Given the description of an element on the screen output the (x, y) to click on. 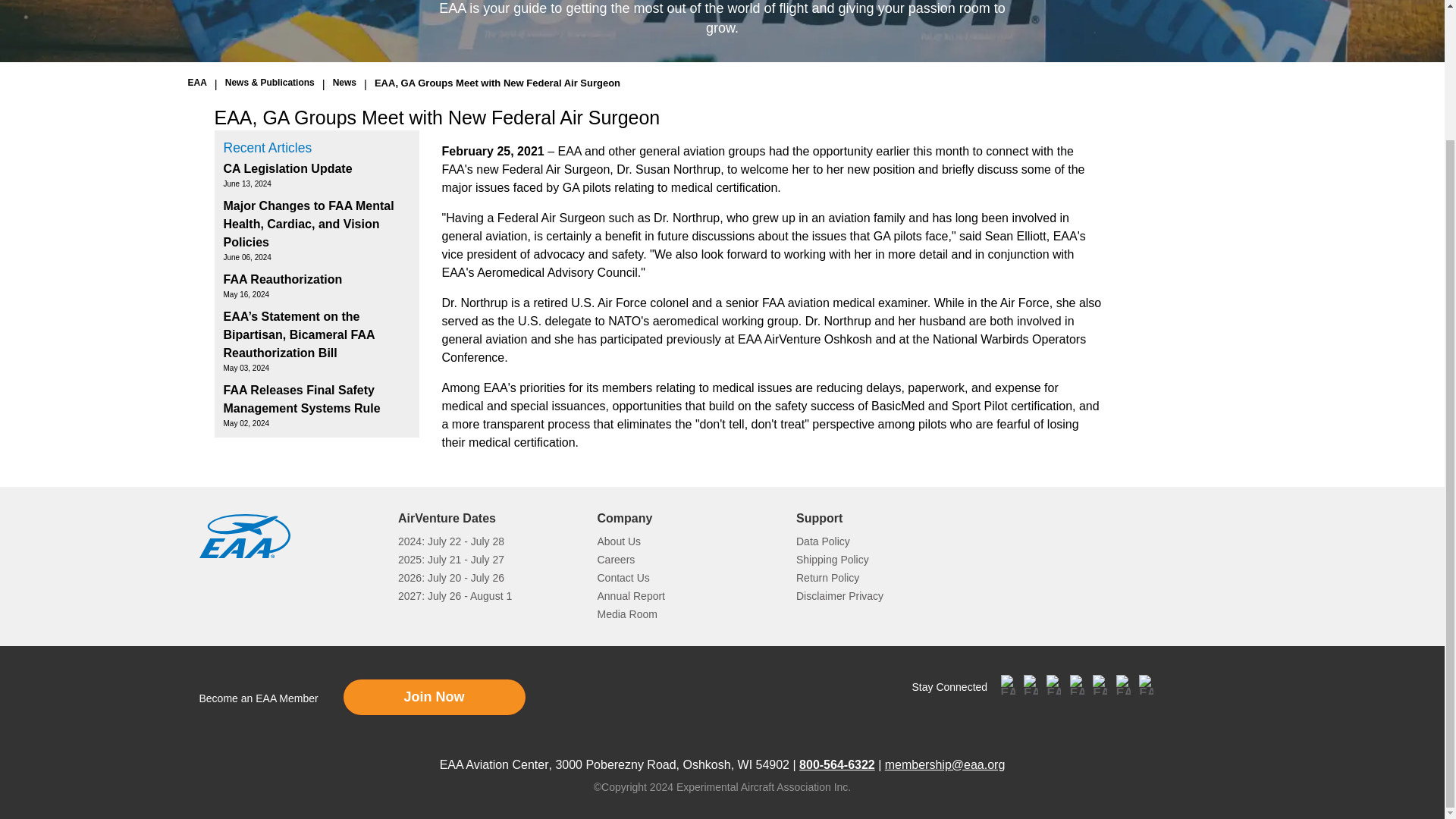
Join Now (433, 696)
